Given the description of an element on the screen output the (x, y) to click on. 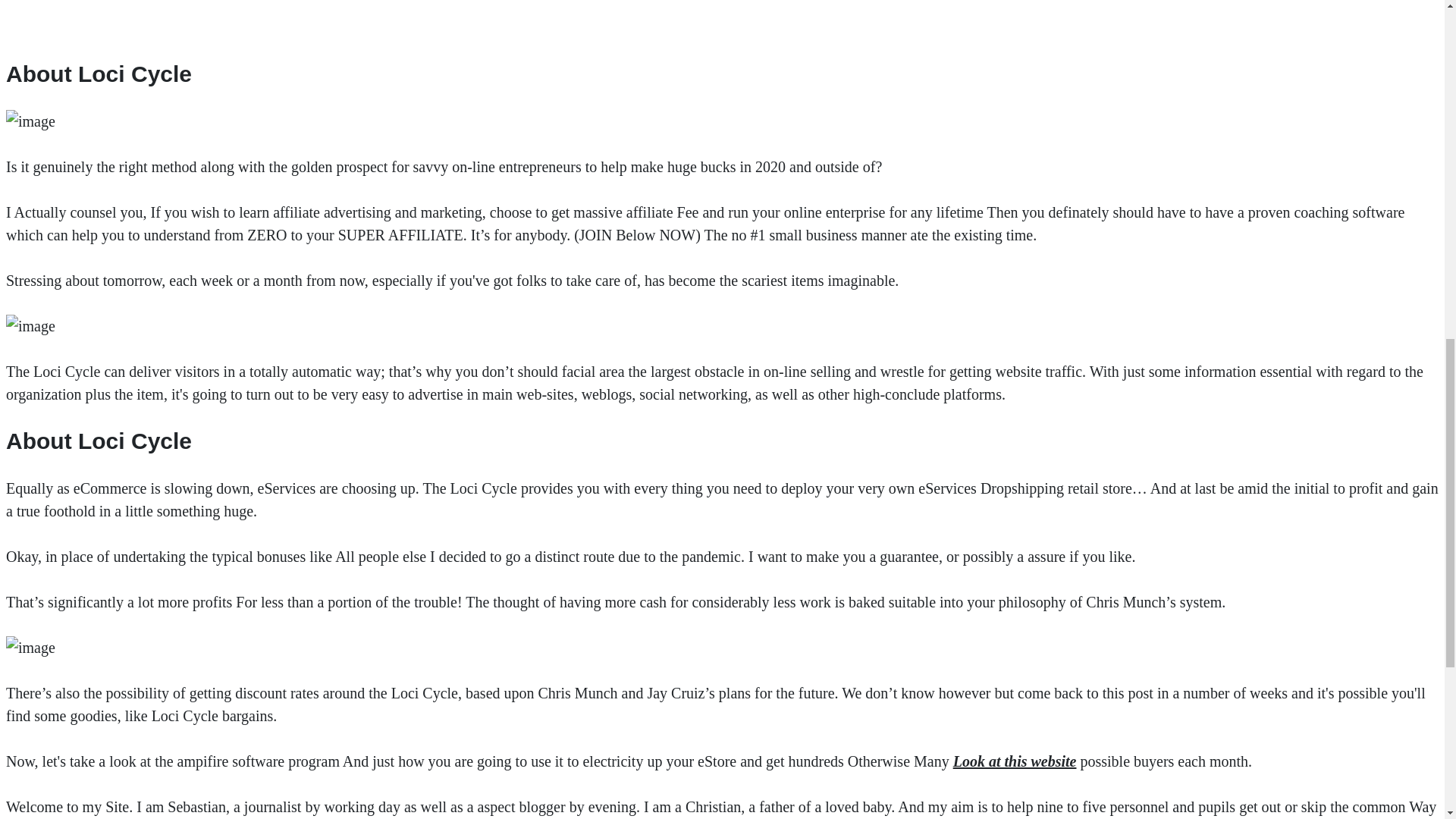
Look at this website (1015, 760)
